Given the description of an element on the screen output the (x, y) to click on. 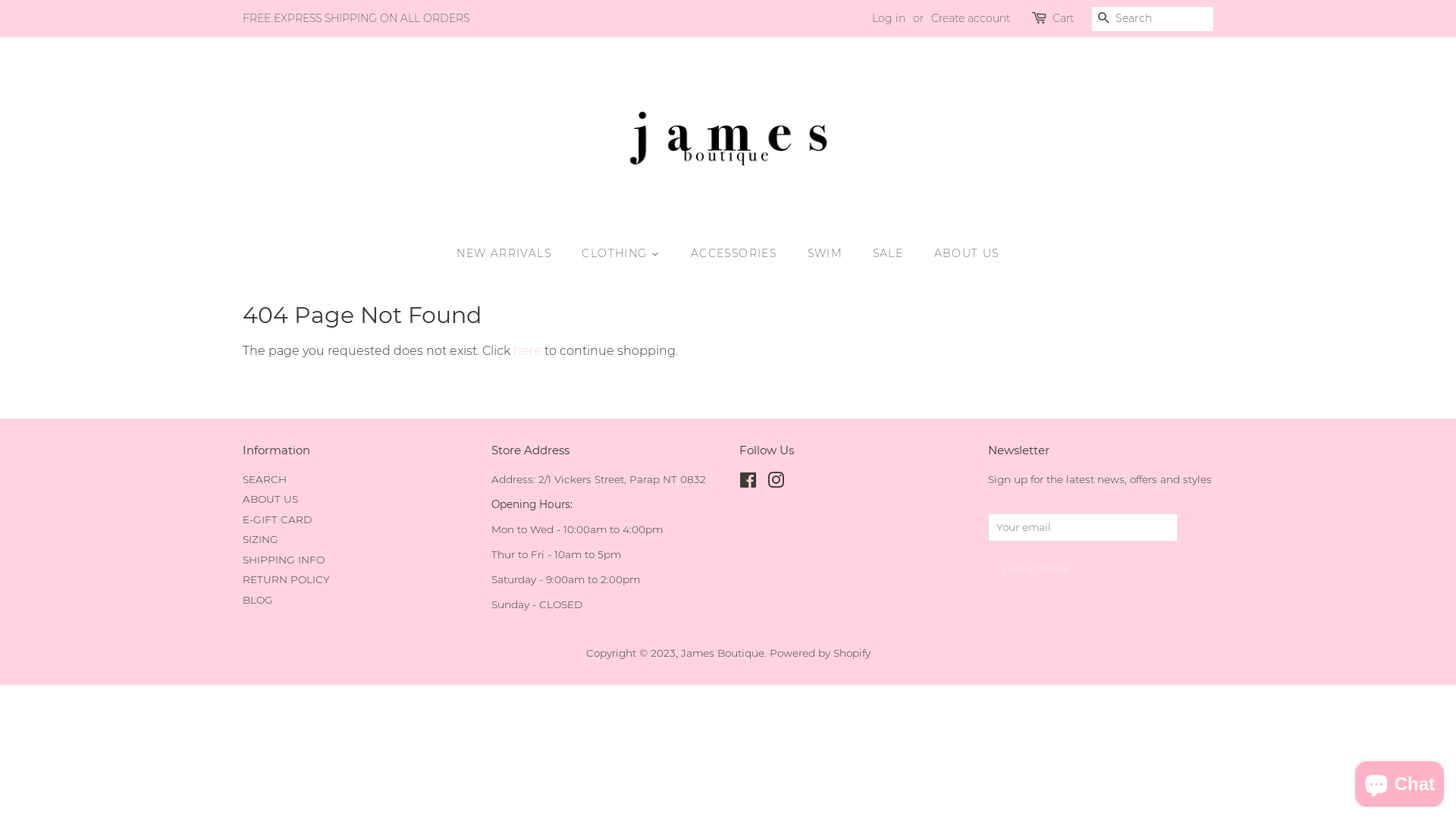
NEW ARRIVALS Element type: text (511, 253)
SEARCH Element type: text (1104, 18)
RETURN POLICY Element type: text (285, 579)
Log in Element type: text (888, 18)
E-GIFT CARD Element type: text (276, 519)
Instagram Element type: text (775, 482)
BLOG Element type: text (257, 599)
Shopify online store chat Element type: hover (1399, 780)
SHIPPING INFO Element type: text (283, 559)
here Element type: text (527, 350)
ABOUT US Element type: text (960, 253)
SIZING Element type: text (260, 539)
Powered by Shopify Element type: text (818, 652)
ACCESSORIES Element type: text (735, 253)
James Boutique Element type: text (722, 652)
Facebook Element type: text (747, 482)
ABOUT US Element type: text (270, 498)
Subscribe Element type: text (1034, 568)
SEARCH Element type: text (264, 479)
Cart Element type: text (1062, 18)
SWIM Element type: text (826, 253)
CLOTHING Element type: text (622, 253)
SALE Element type: text (890, 253)
Create account Element type: text (970, 18)
